Given the description of an element on the screen output the (x, y) to click on. 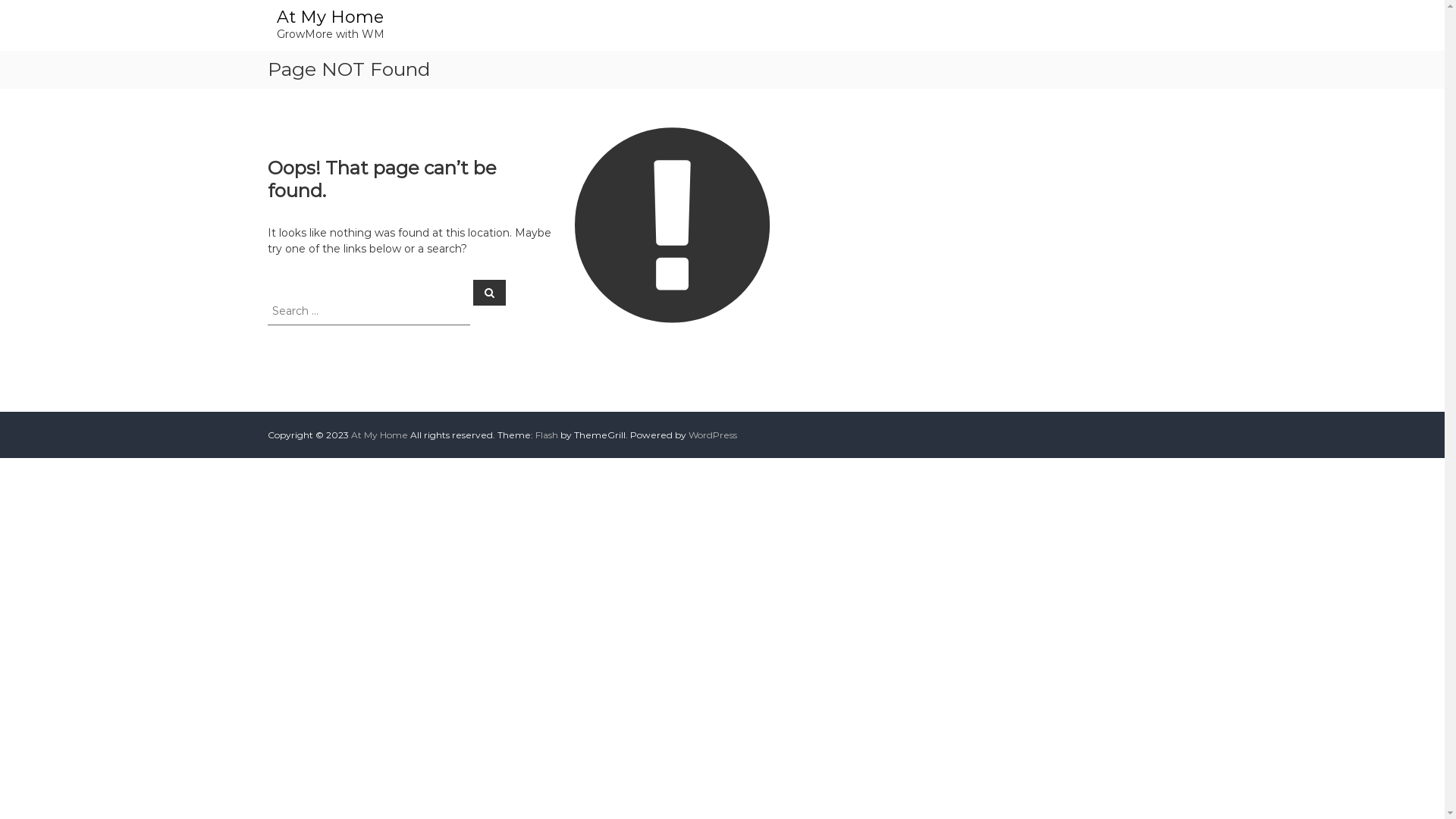
WordPress Element type: text (712, 434)
Search Element type: text (489, 291)
Flash Element type: text (546, 434)
At My Home Element type: text (329, 16)
At My Home Element type: text (378, 434)
